Given the description of an element on the screen output the (x, y) to click on. 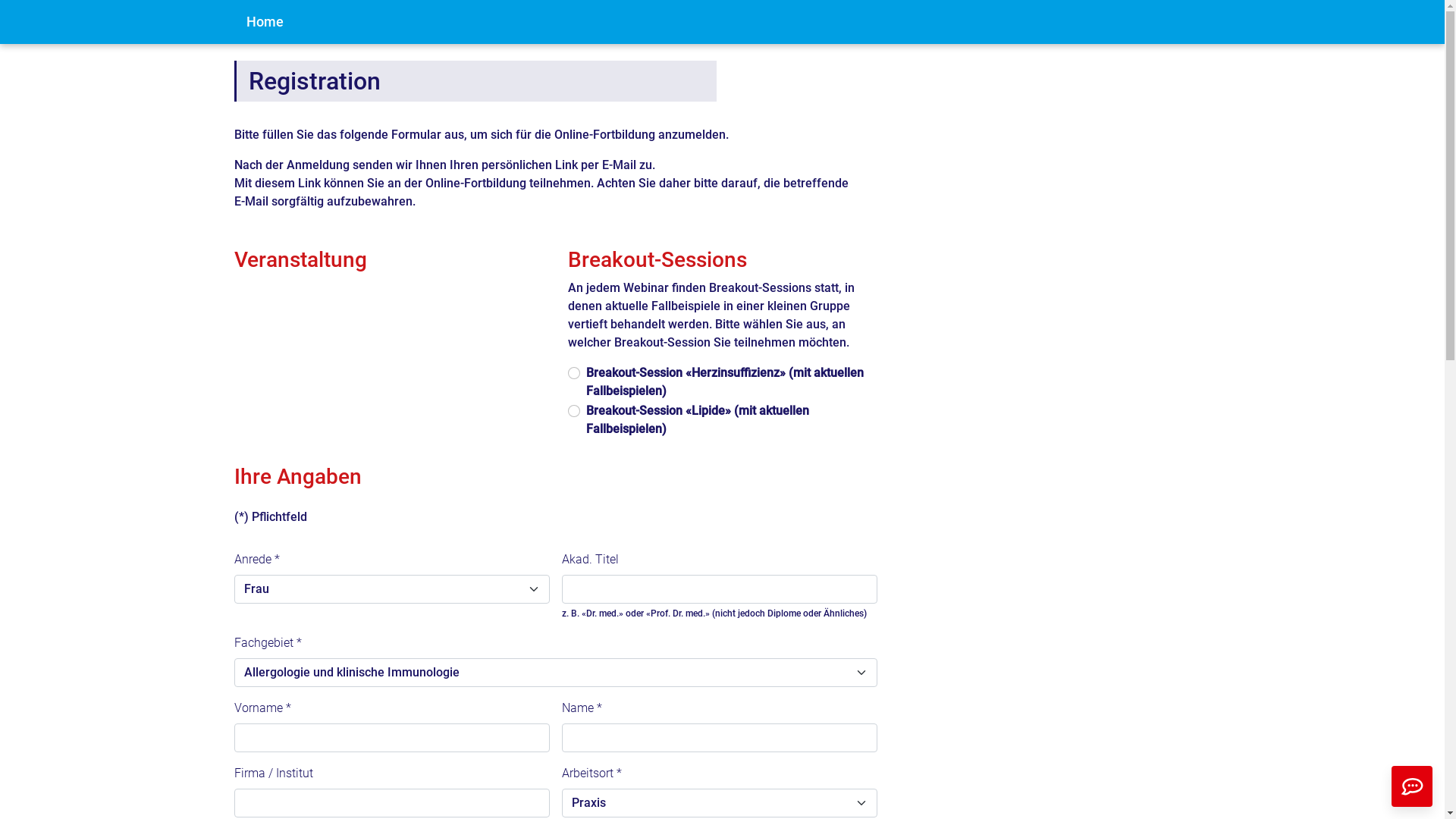
Home Element type: text (263, 21)
